Given the description of an element on the screen output the (x, y) to click on. 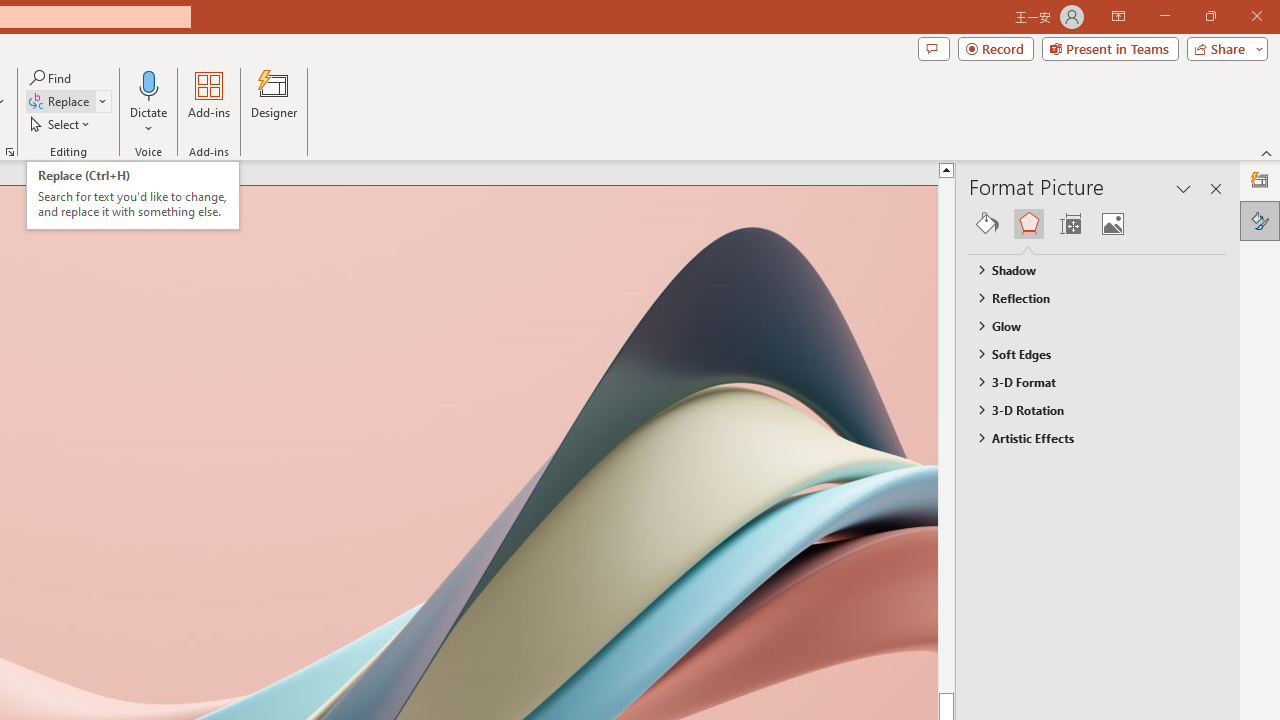
Shadow (1088, 269)
Comments (933, 48)
More Options (149, 121)
Restore Down (1210, 16)
Replace... (68, 101)
3-D Rotation (1088, 410)
Task Pane Options (1183, 188)
Fill & Line (987, 223)
Soft Edges (1088, 353)
